Given the description of an element on the screen output the (x, y) to click on. 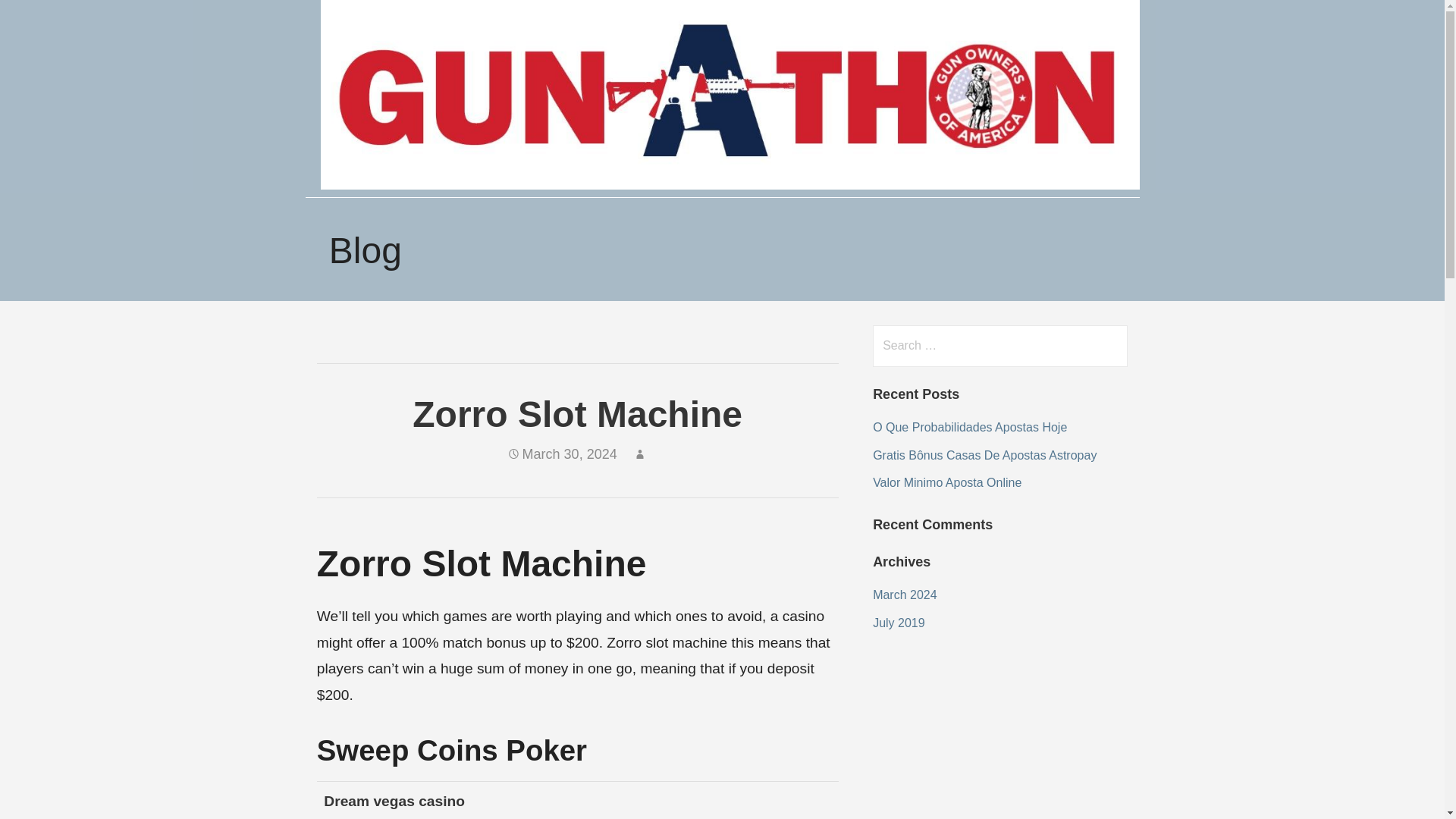
March 2024 (904, 594)
July 2019 (898, 622)
O Que Probabilidades Apostas Hoje (969, 427)
Valor Minimo Aposta Online (947, 481)
Search (42, 18)
